Given the description of an element on the screen output the (x, y) to click on. 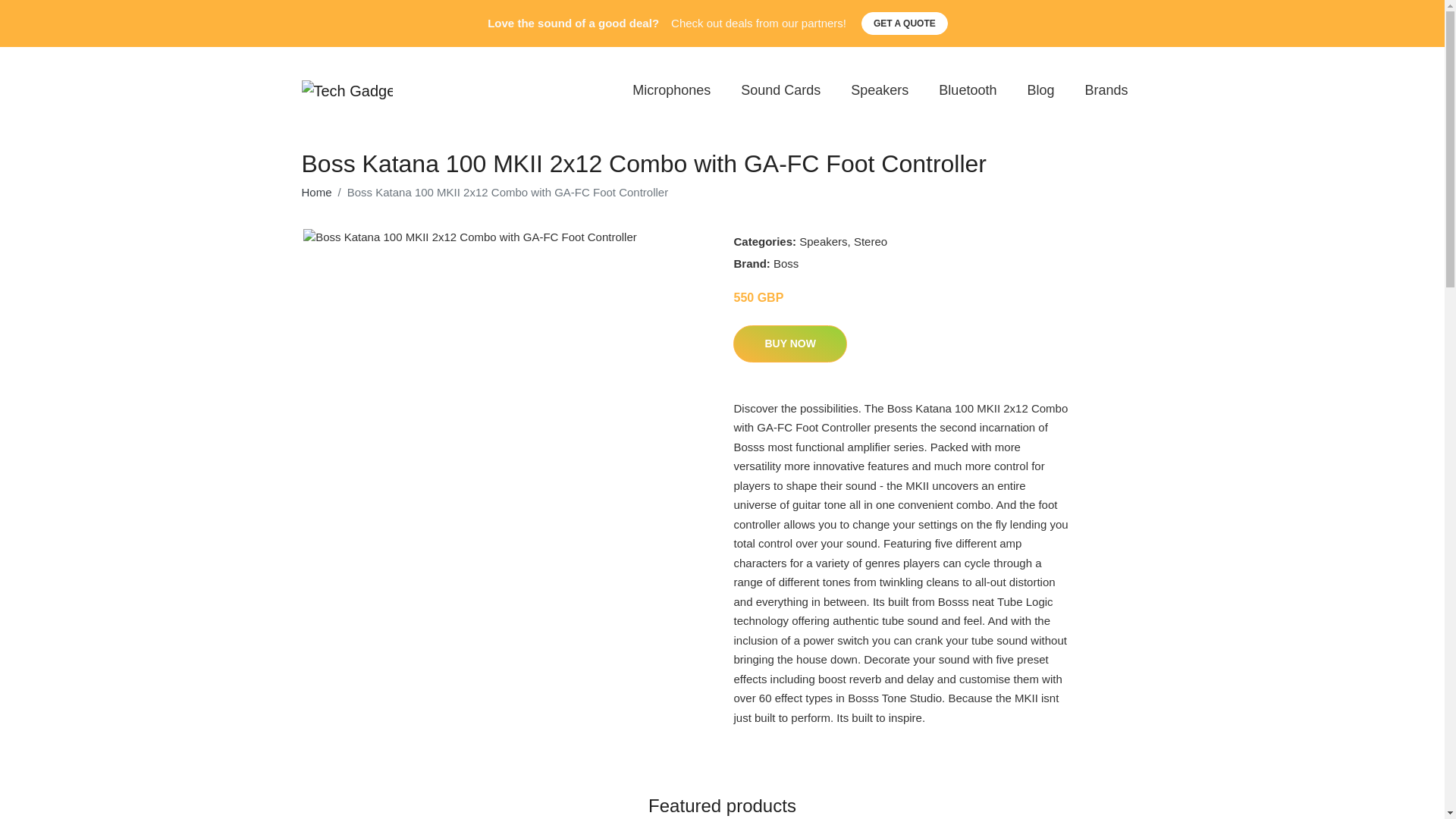
Sound Cards (780, 90)
Brands (1105, 90)
Home (316, 192)
Bluetooth (967, 90)
Microphones (671, 90)
Stereo (869, 241)
Speakers (823, 241)
Blog (1039, 90)
BUY NOW (789, 343)
GET A QUOTE (904, 23)
Speakers (879, 90)
